Given the description of an element on the screen output the (x, y) to click on. 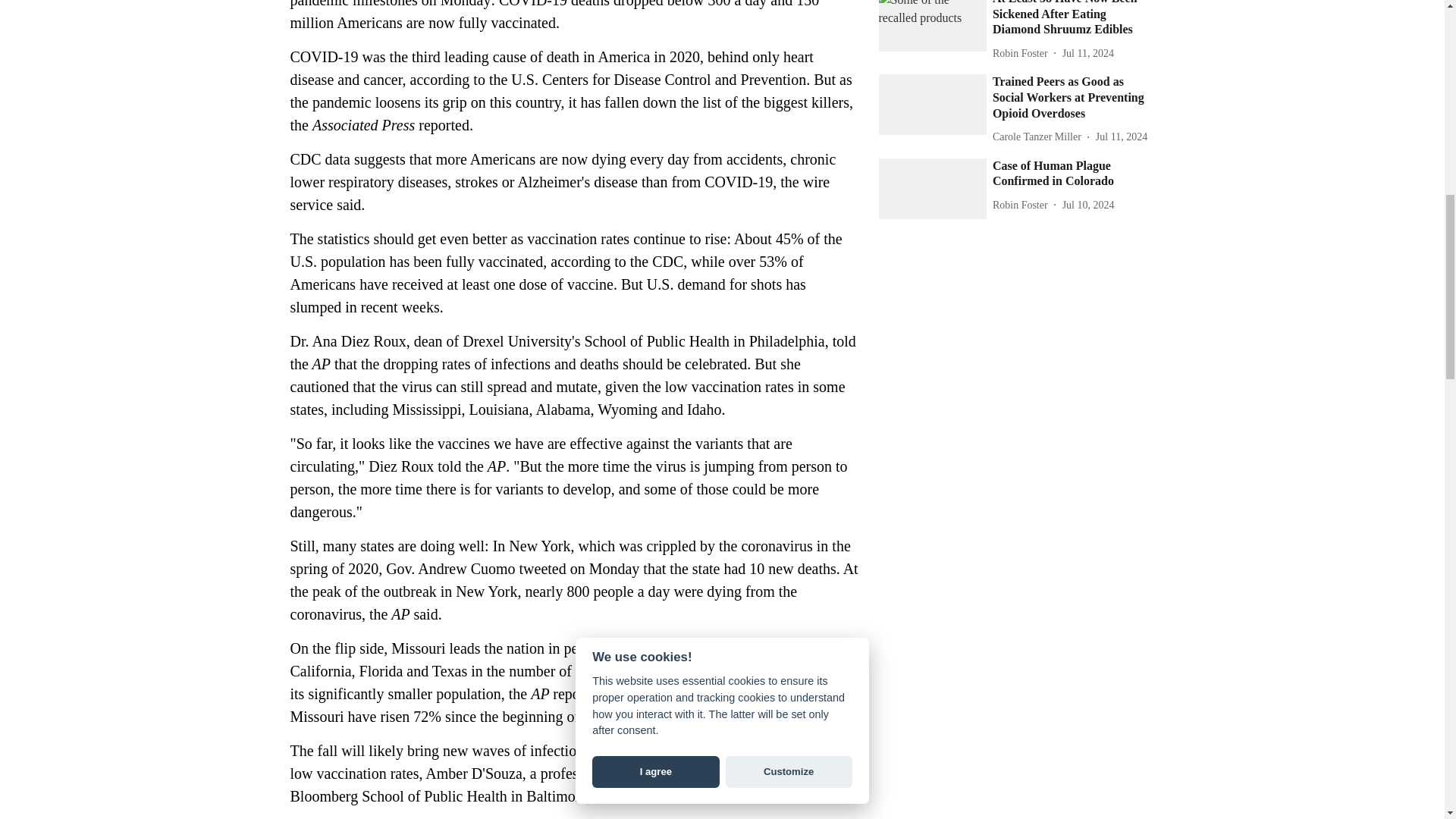
2024-07-10 12:23 (1088, 204)
2024-07-11 12:48 (1087, 53)
2024-07-11 12:20 (1121, 136)
